Given the description of an element on the screen output the (x, y) to click on. 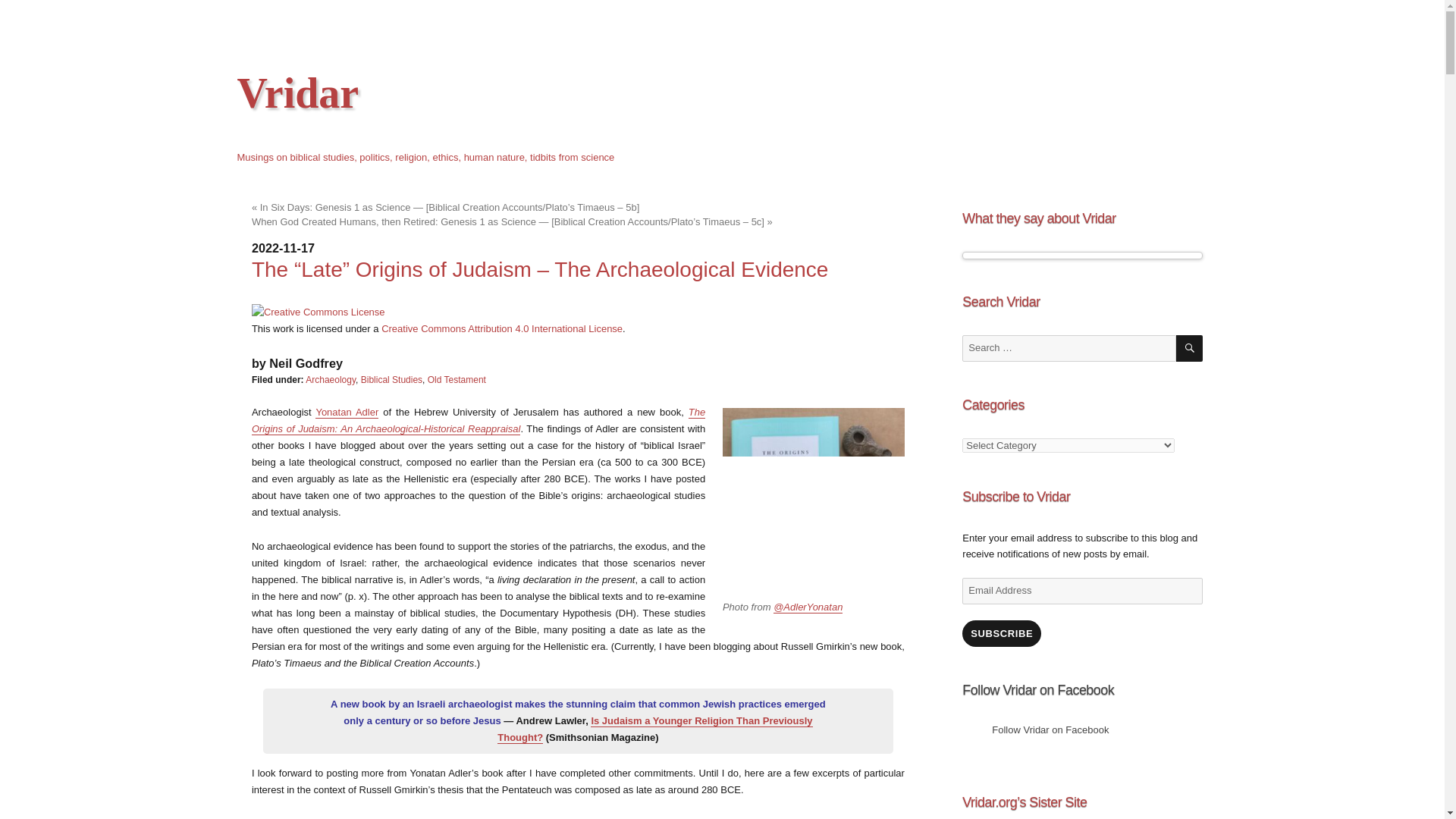
Old Testament (457, 379)
Biblical Studies (391, 379)
Creative Commons Attribution 4.0 International License (502, 328)
Yonatan Adler (346, 411)
Archaeology (330, 379)
Is Judaism a Younger Religion Than Previously Thought? (654, 728)
Vridar (296, 93)
